Given the description of an element on the screen output the (x, y) to click on. 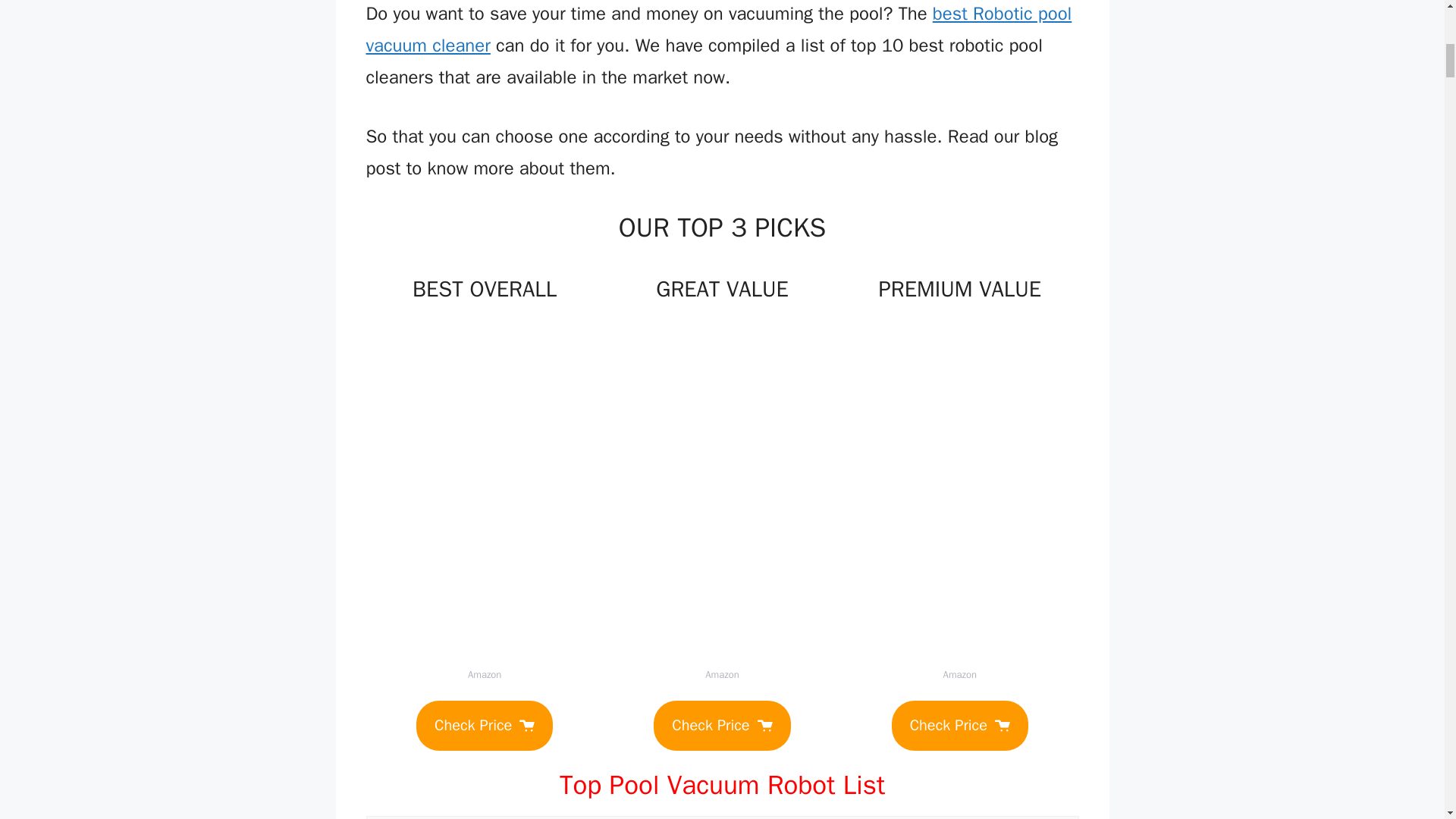
Check Price (959, 726)
best Robotic pool vacuum cleaner (718, 29)
Check Price (721, 726)
Check Price (484, 726)
Scroll back to top (1406, 720)
